Given the description of an element on the screen output the (x, y) to click on. 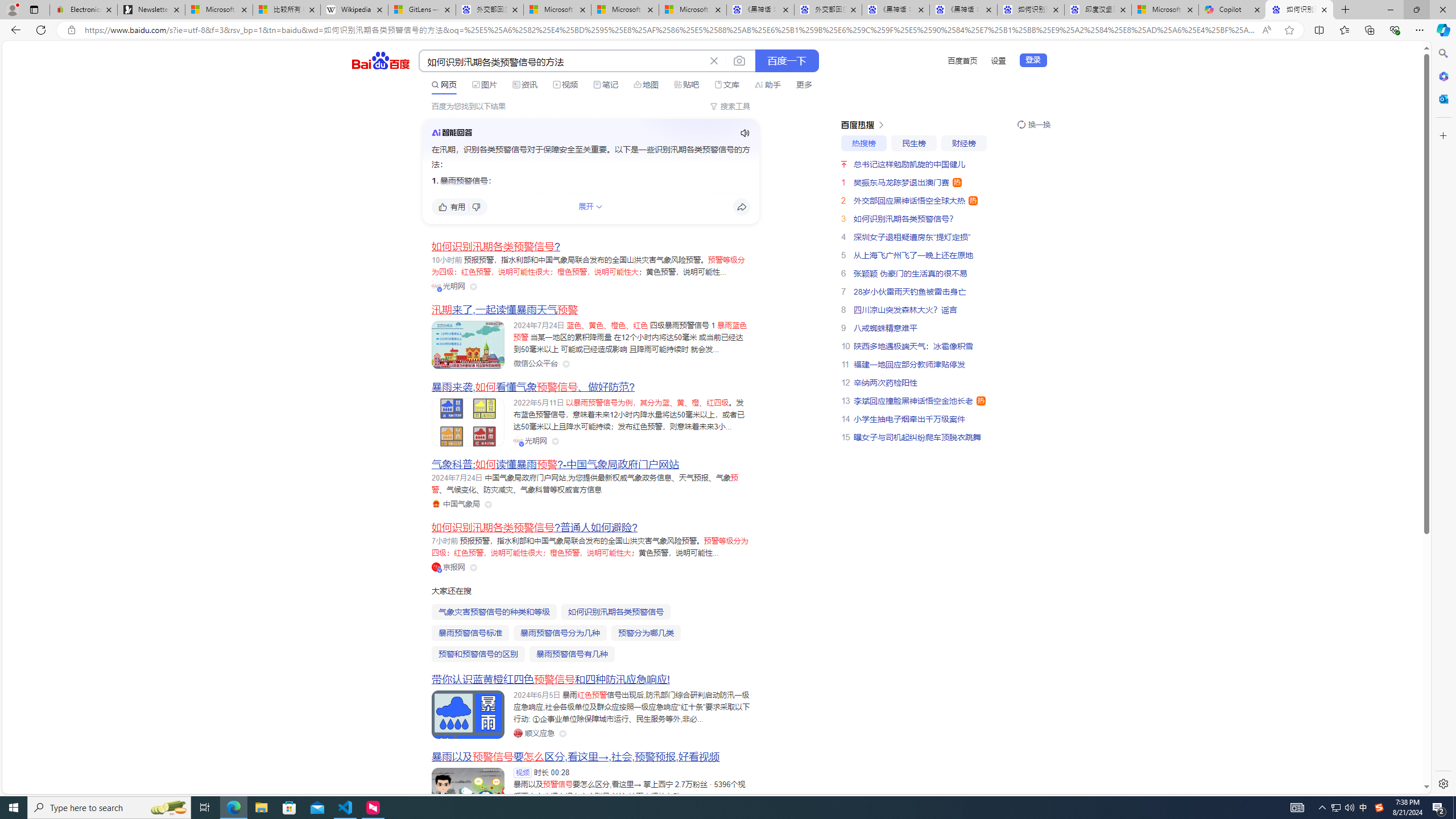
Class: sc-audio-svg _pause-icon_13ucw_87 (745, 132)
Class: img-light_7jMUg (450, 131)
